Given the description of an element on the screen output the (x, y) to click on. 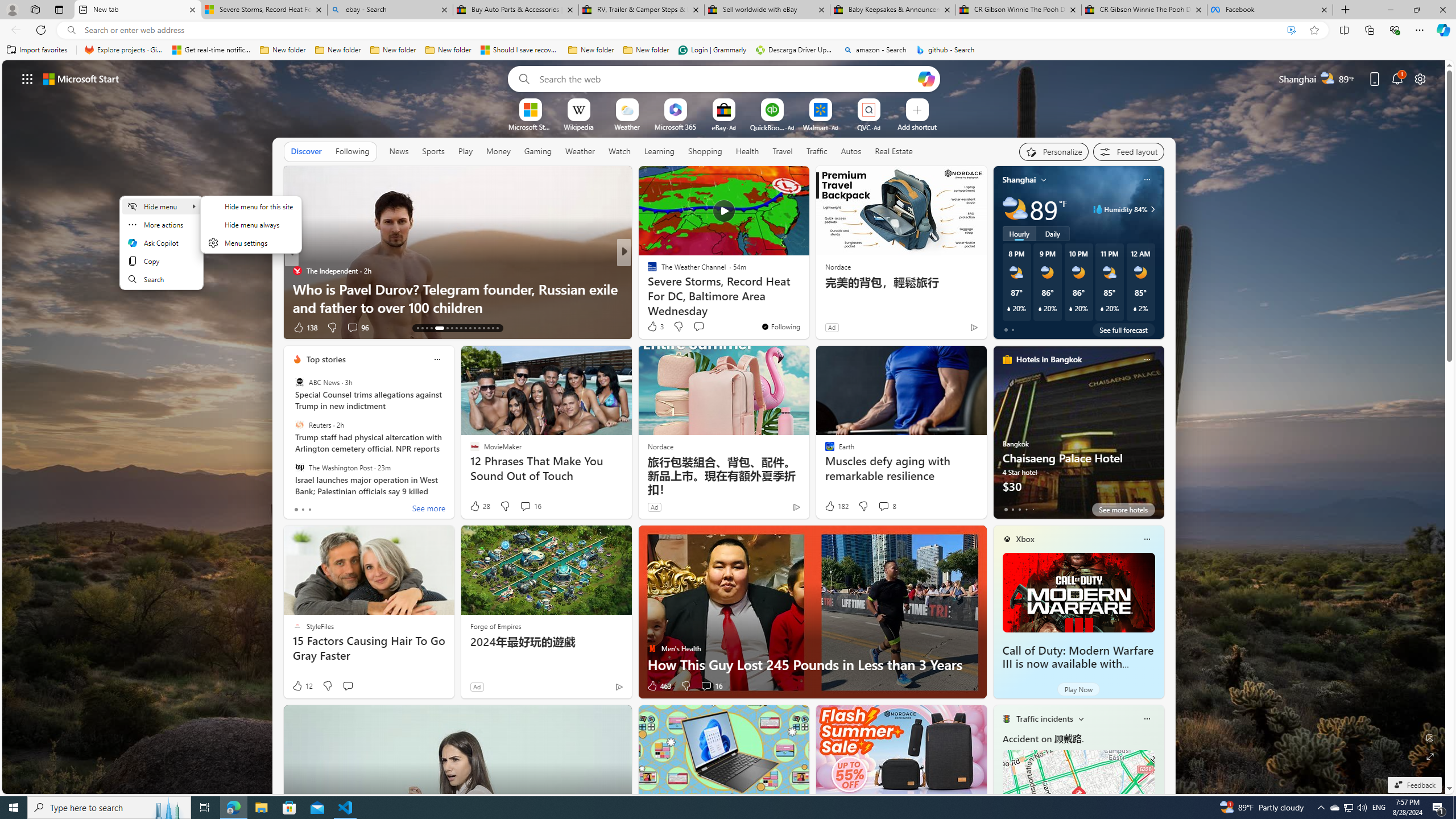
Partly cloudy (1014, 208)
Reuters (299, 424)
182 Like (835, 505)
Login | Grammarly (712, 49)
App launcher (27, 78)
Travel (782, 151)
New folder (646, 49)
AutomationID: tab-19 (451, 328)
Add a site (916, 126)
Expand background (1430, 756)
See more hotels (1123, 509)
Dailymotion (647, 288)
